Given the description of an element on the screen output the (x, y) to click on. 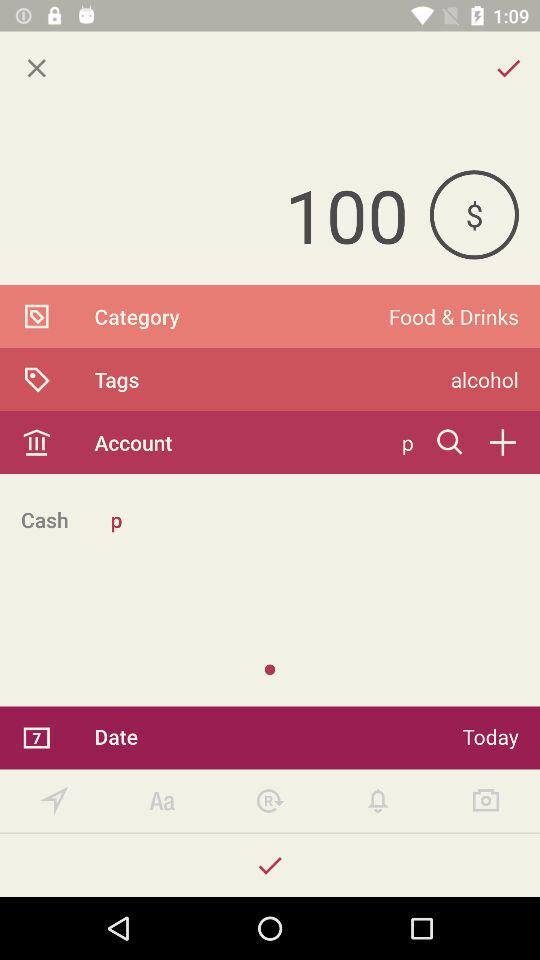
take picture (486, 800)
